Given the description of an element on the screen output the (x, y) to click on. 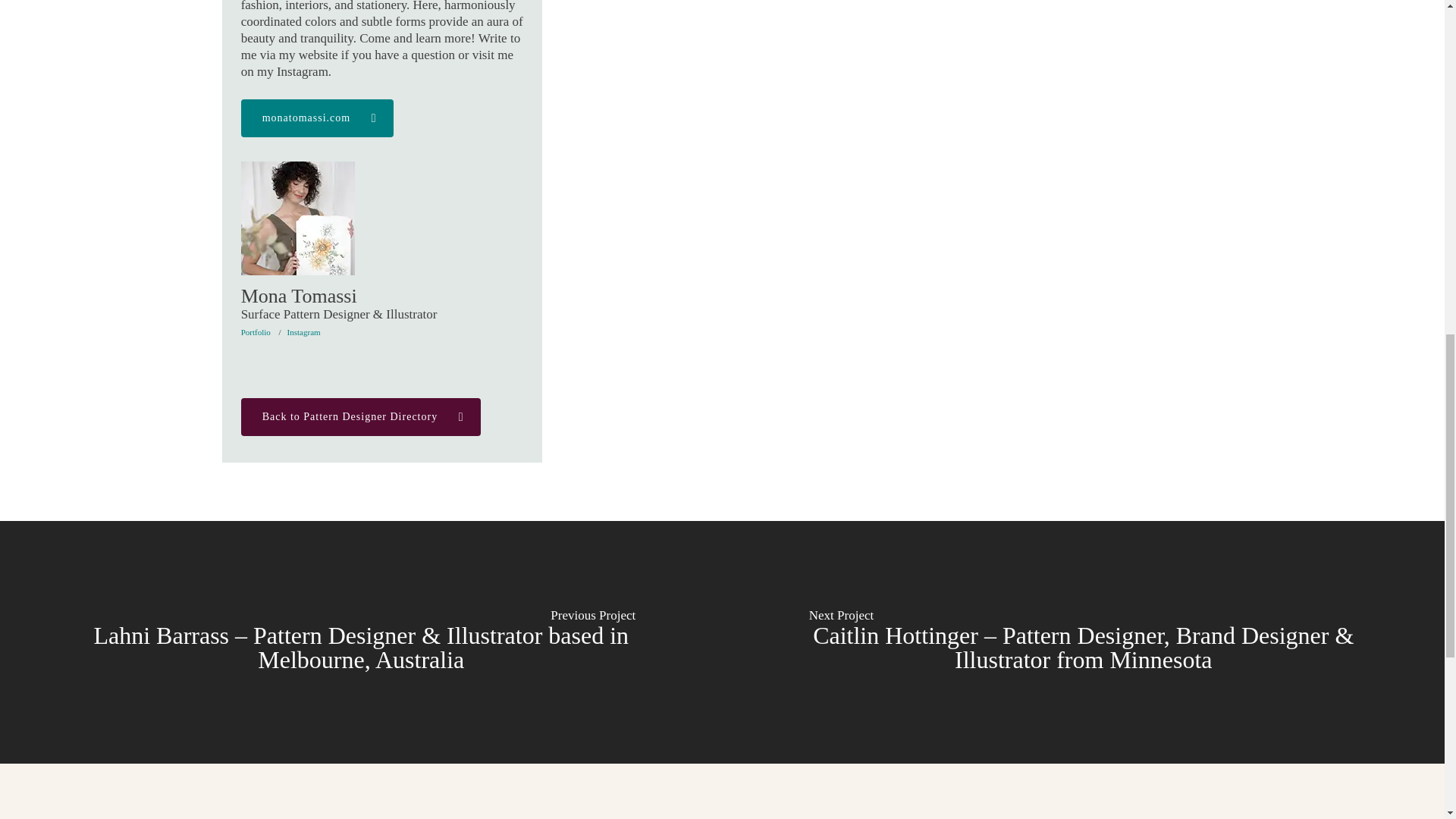
monatomassi.com (317, 118)
Portfolio (255, 331)
Mona Tomassi (298, 218)
Instagram (303, 331)
Back to Pattern Designer Directory (361, 416)
